Given the description of an element on the screen output the (x, y) to click on. 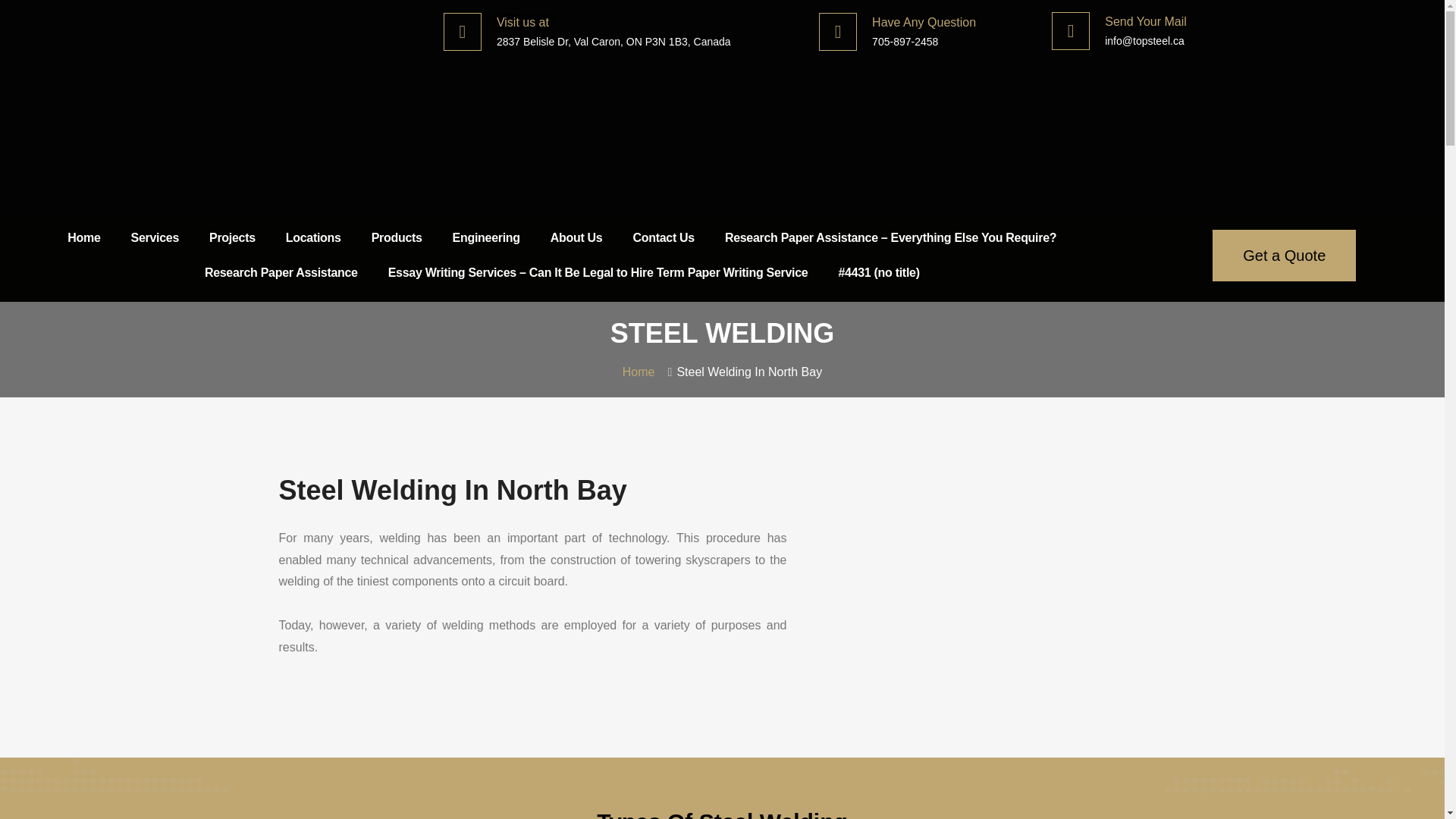
Projects (231, 237)
Services (154, 237)
Locations (313, 237)
Send Your Mail (1145, 21)
Have Any Question (923, 21)
705-897-2458 (904, 41)
Visit us at (522, 21)
2837 Belisle Dr, Val Caron, ON P3N 1B3, Canada (613, 41)
Home (83, 237)
